Given the description of an element on the screen output the (x, y) to click on. 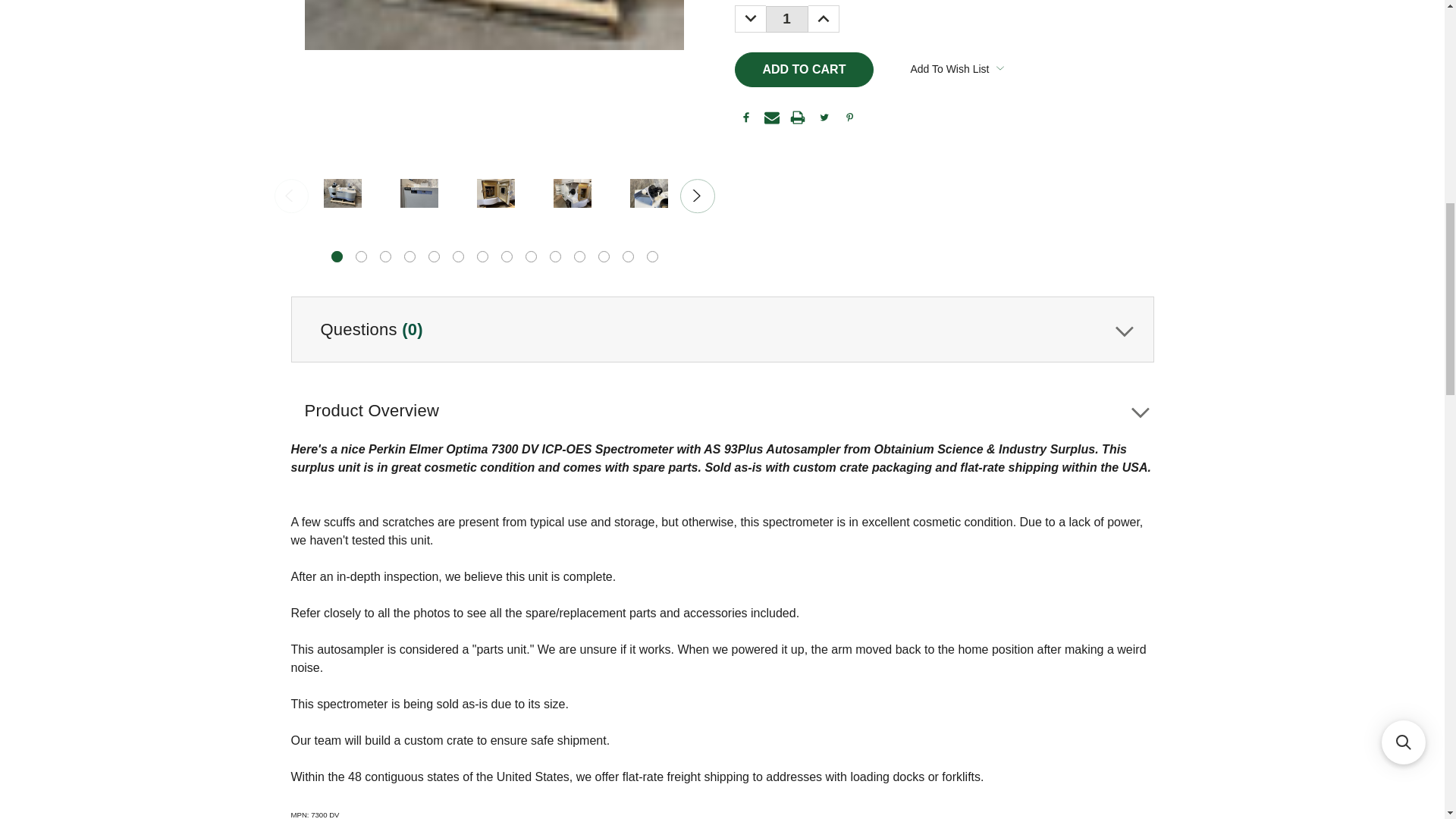
Add to Cart (803, 69)
1 (786, 18)
